Given the description of an element on the screen output the (x, y) to click on. 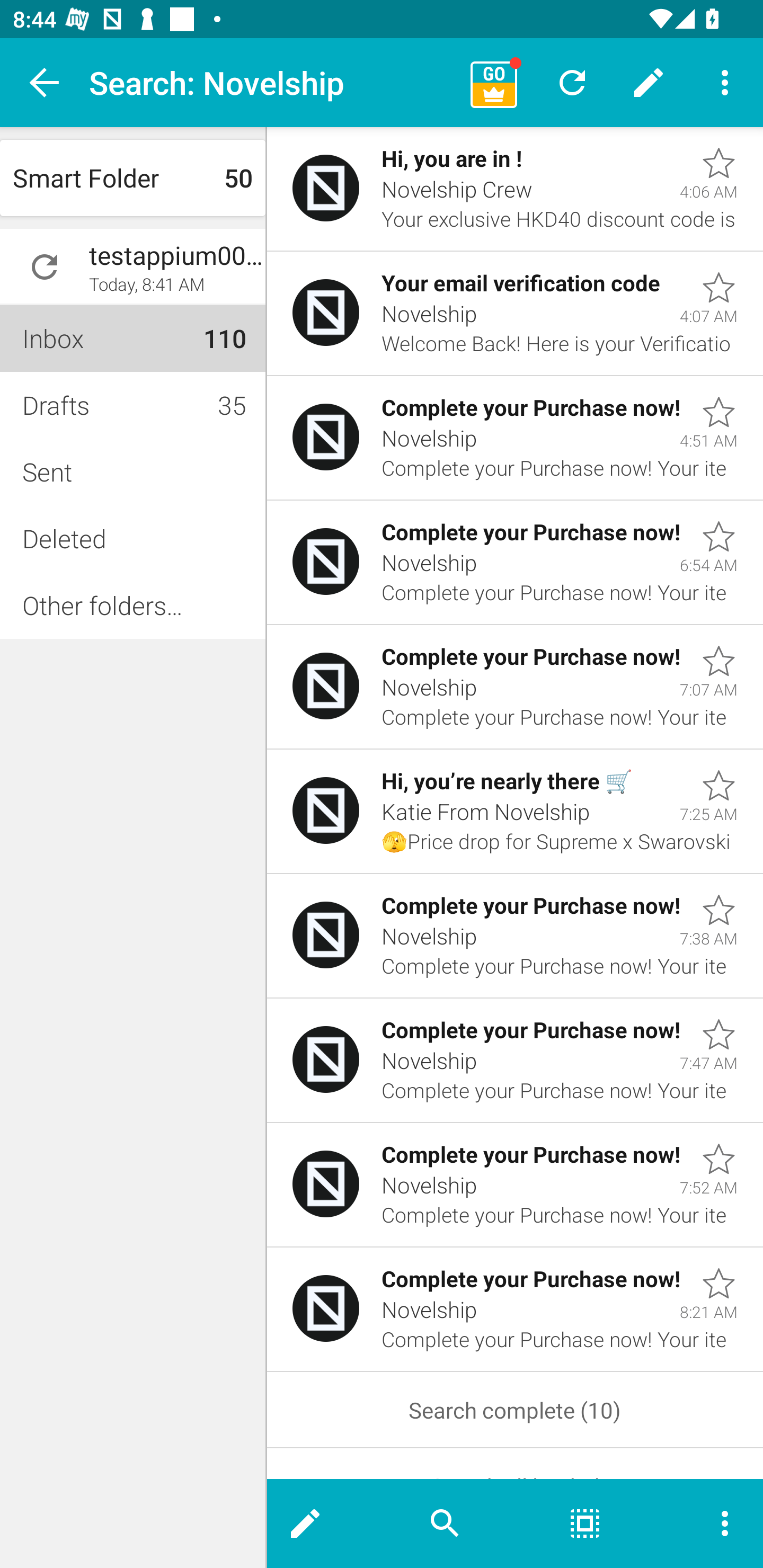
Navigate up (44, 82)
Refresh all (572, 82)
New message (648, 82)
More options (724, 81)
Smart Folder 50 50 unread, 50 total messages (132, 177)
Refresh account (44, 266)
Sent Folder: Sent 24 total messages (132, 471)
Deleted Folder: Deleted 0 total messages (132, 538)
Other folders… (132, 605)
Search complete (10) (515, 1410)
New message (321, 1523)
Search (445, 1523)
Select all (584, 1523)
More options (708, 1522)
